Given the description of an element on the screen output the (x, y) to click on. 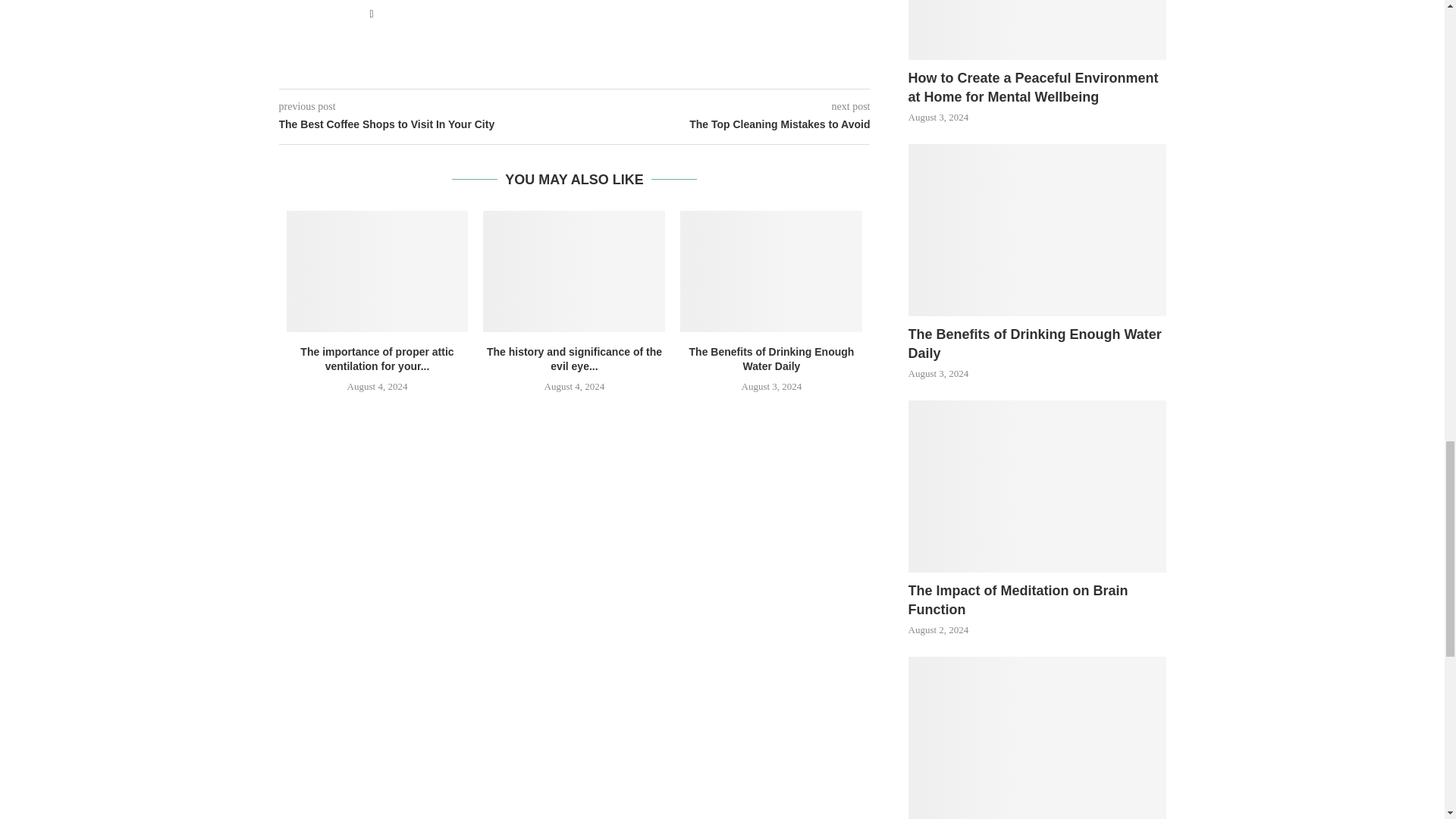
The history and significance of the evil eye symbol (574, 271)
The Benefits of Drinking Enough Water Daily (770, 271)
